Given the description of an element on the screen output the (x, y) to click on. 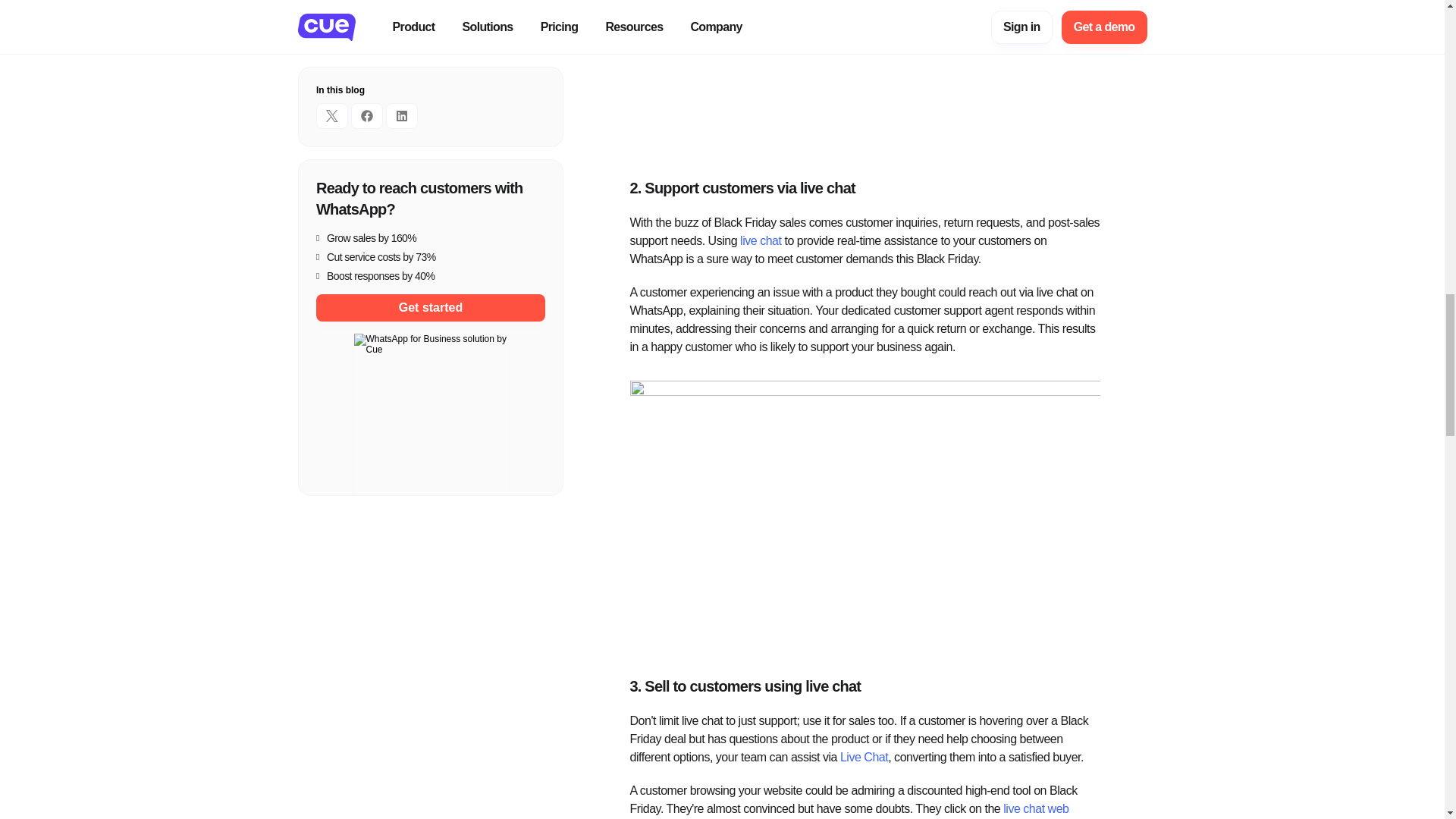
Live Chat (864, 757)
live chat web widget (849, 810)
live chat (759, 240)
